Given the description of an element on the screen output the (x, y) to click on. 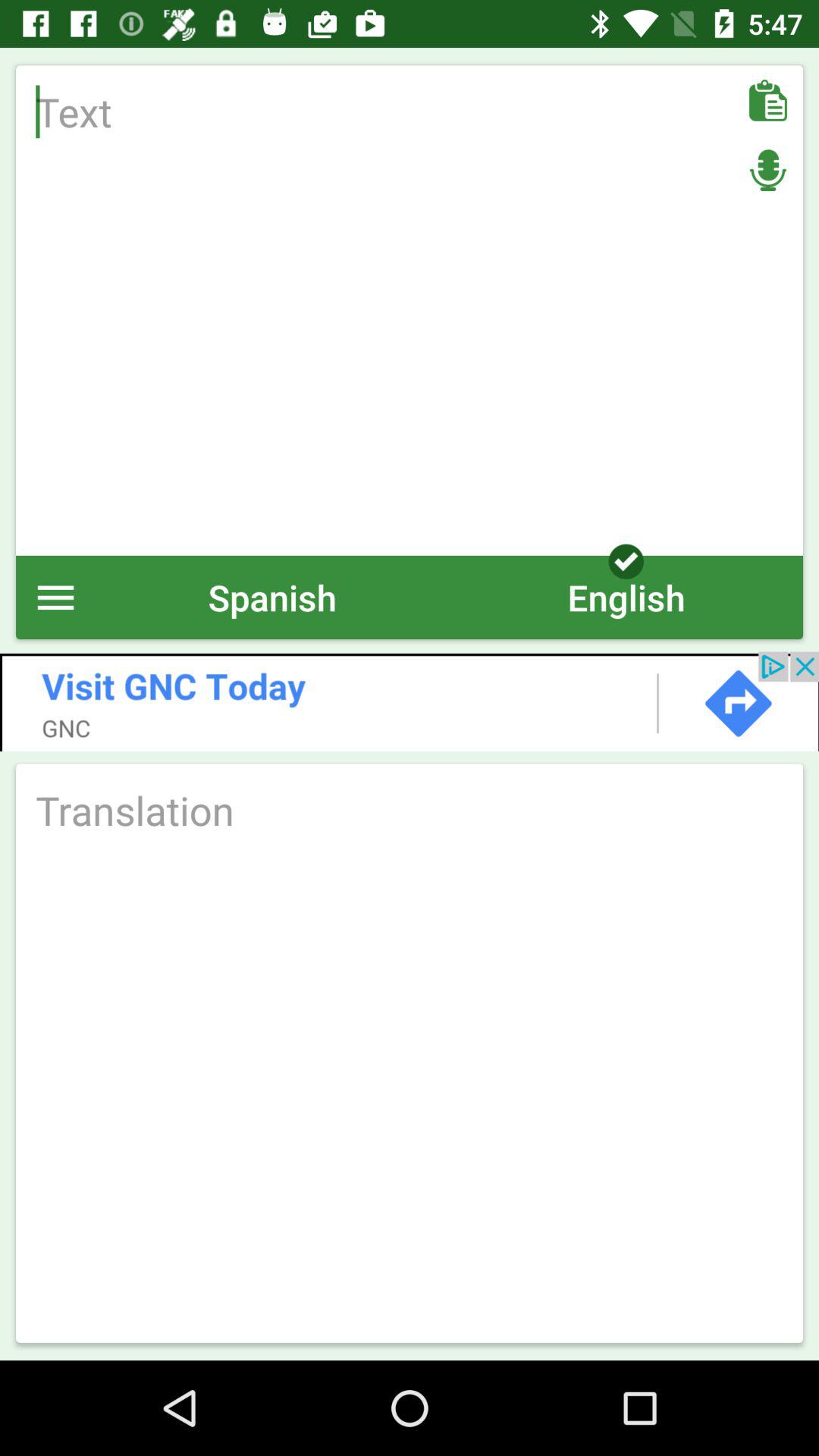
mic on (768, 170)
